Given the description of an element on the screen output the (x, y) to click on. 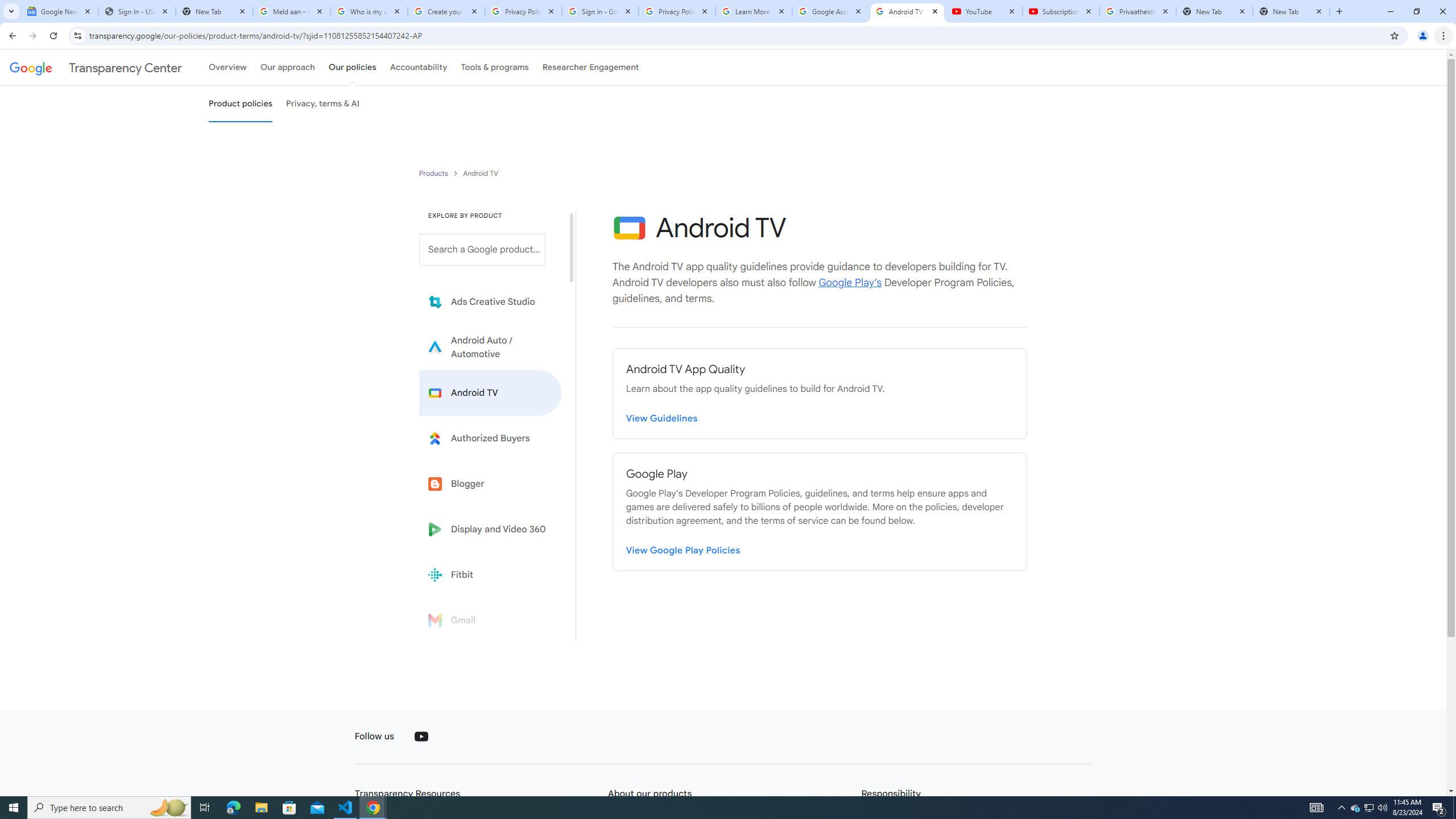
Display and Video 360 (490, 529)
Blogger (490, 483)
New Tab (1291, 11)
Learn more about Authorized Buyers (490, 438)
Product policies (434, 173)
Display and Video 360 (490, 529)
Learn more about Android TV (490, 393)
View Google Play Policies (683, 547)
Google News (59, 11)
